Given the description of an element on the screen output the (x, y) to click on. 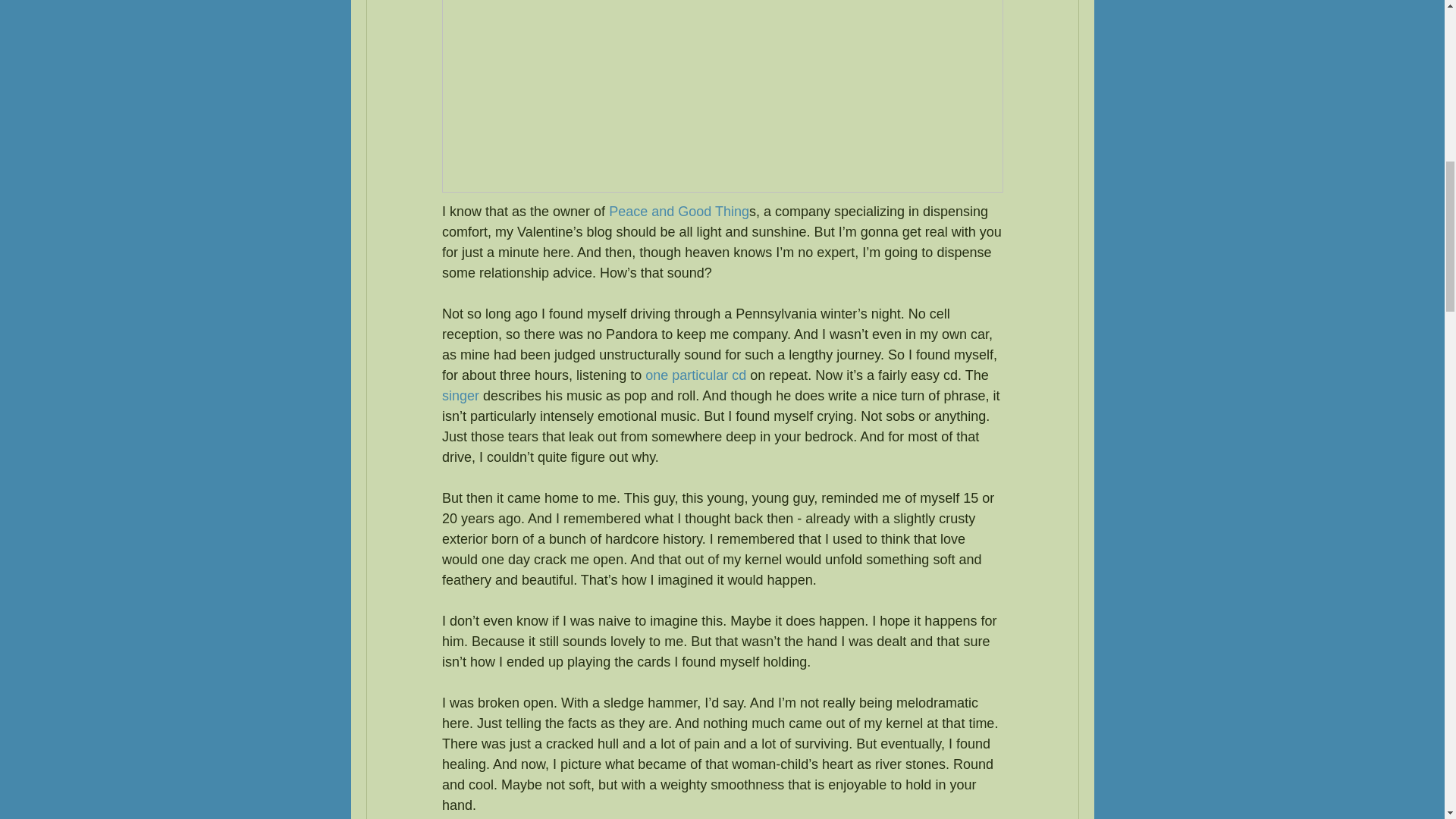
Peace and Good Thing (678, 211)
one particular cd (695, 375)
singer (460, 395)
